Given the description of an element on the screen output the (x, y) to click on. 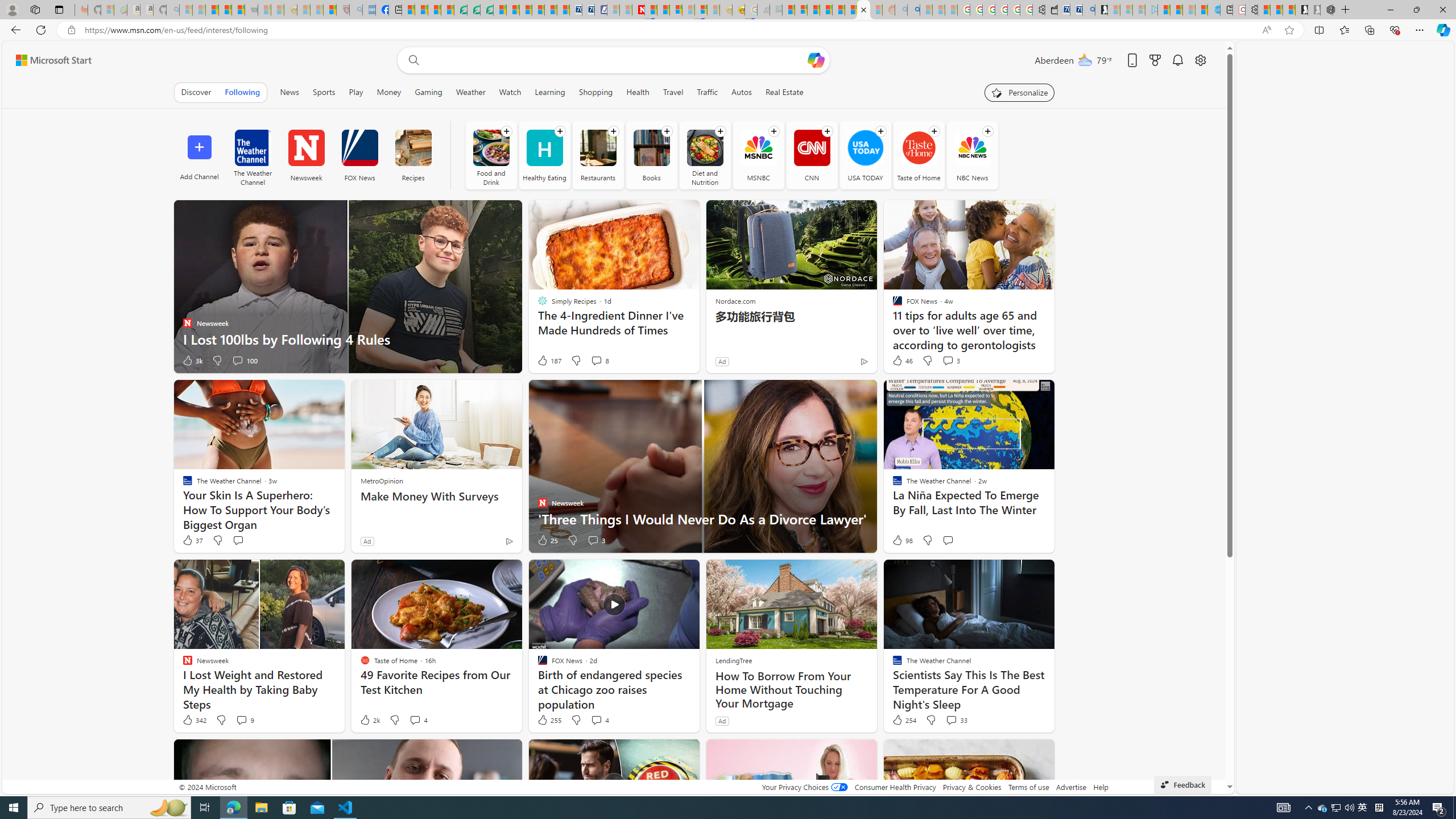
255 Like (548, 719)
LendingTree - Compare Lenders (460, 9)
Sports (323, 92)
Traffic (707, 92)
Bing Real Estate - Home sales and rental listings (1088, 9)
